Given the description of an element on the screen output the (x, y) to click on. 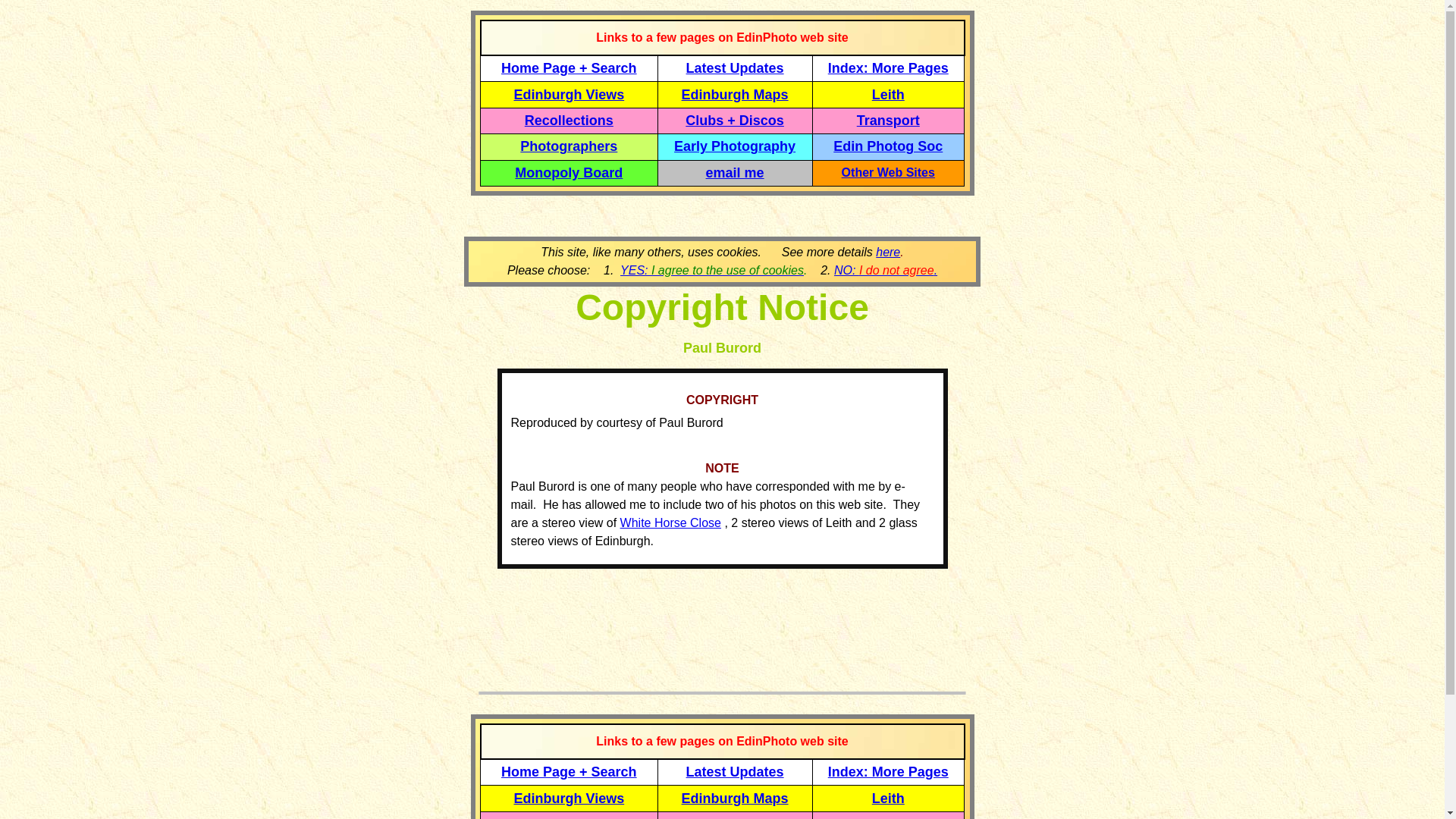
NO: I do not agree. (885, 269)
Transport (888, 817)
YES: I agree to the use of cookies (711, 269)
Edin Photog Soc (887, 145)
Leith (888, 94)
White Horse Close (670, 522)
Latest Updates (734, 68)
Early Photography (734, 145)
here (887, 251)
Edinburgh Maps (735, 798)
Leith (888, 798)
Index: More Pages (888, 771)
Index: More Pages (888, 68)
Transport (888, 120)
Recollections (568, 120)
